Given the description of an element on the screen output the (x, y) to click on. 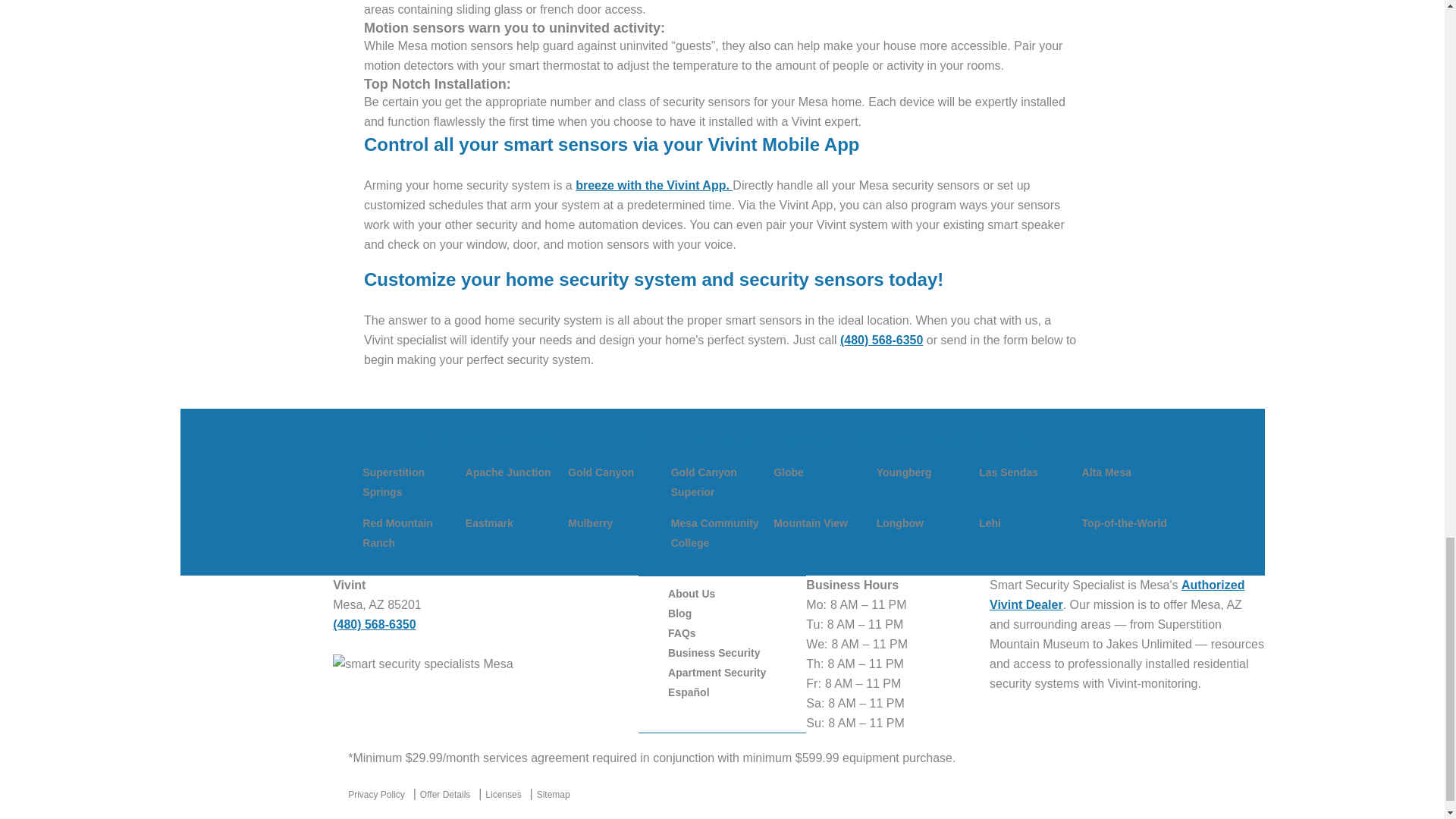
Apache Junction (508, 472)
breeze with the Vivint App. (653, 185)
Superstition Springs (393, 481)
Gold Canyon (600, 472)
The Vivint App (653, 185)
Gold Canyon Superior (703, 481)
